Given the description of an element on the screen output the (x, y) to click on. 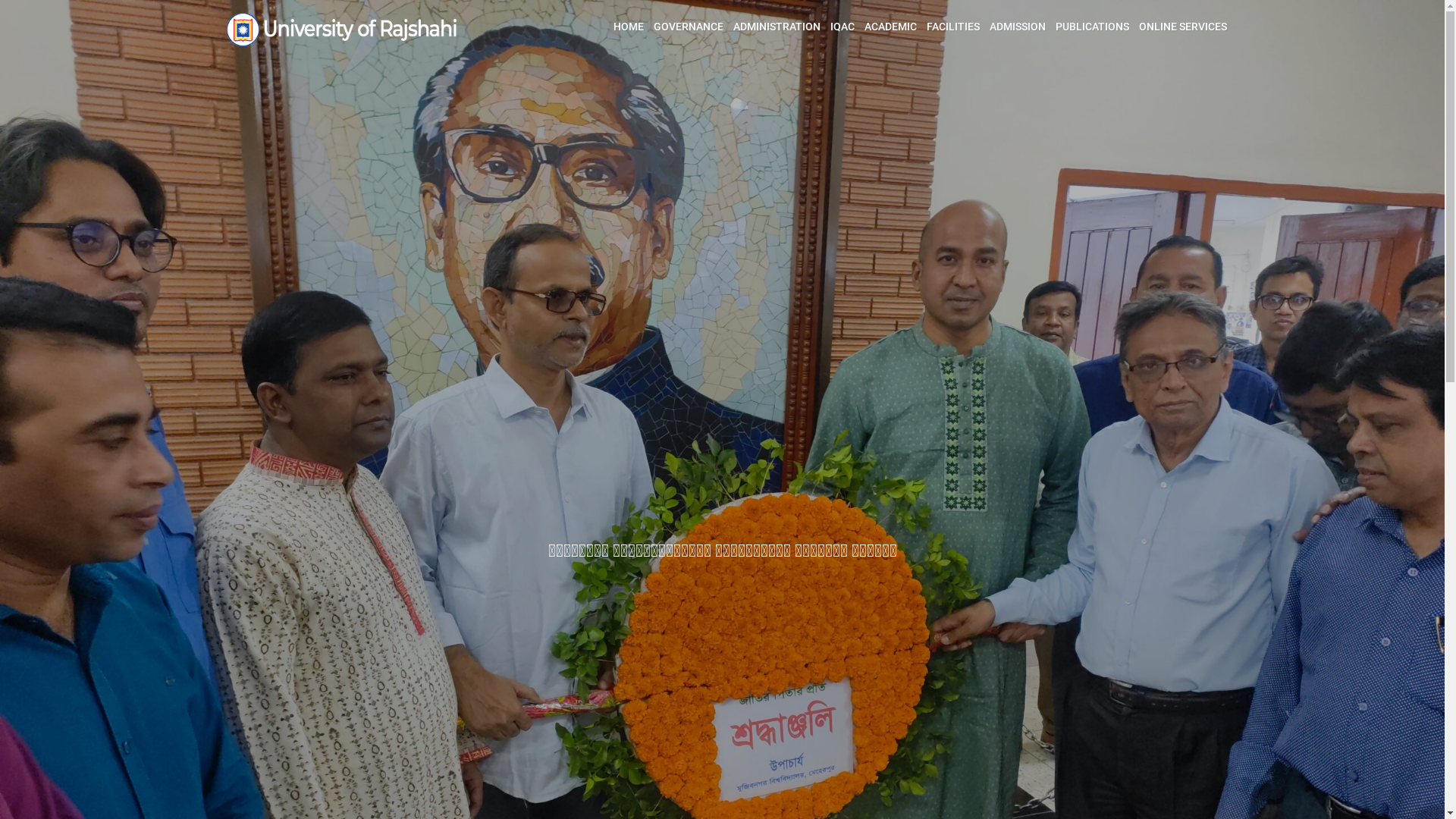
ONLINE SERVICES Element type: text (1182, 26)
ACADEMIC Element type: text (889, 26)
IQAC Element type: text (842, 26)
HOME Element type: text (628, 26)
PUBLICATIONS Element type: text (1091, 26)
ADMINISTRATION Element type: text (776, 26)
FACILITIES Element type: text (952, 26)
GOVERNANCE Element type: text (687, 26)
ADMISSION Element type: text (1017, 26)
